Given the description of an element on the screen output the (x, y) to click on. 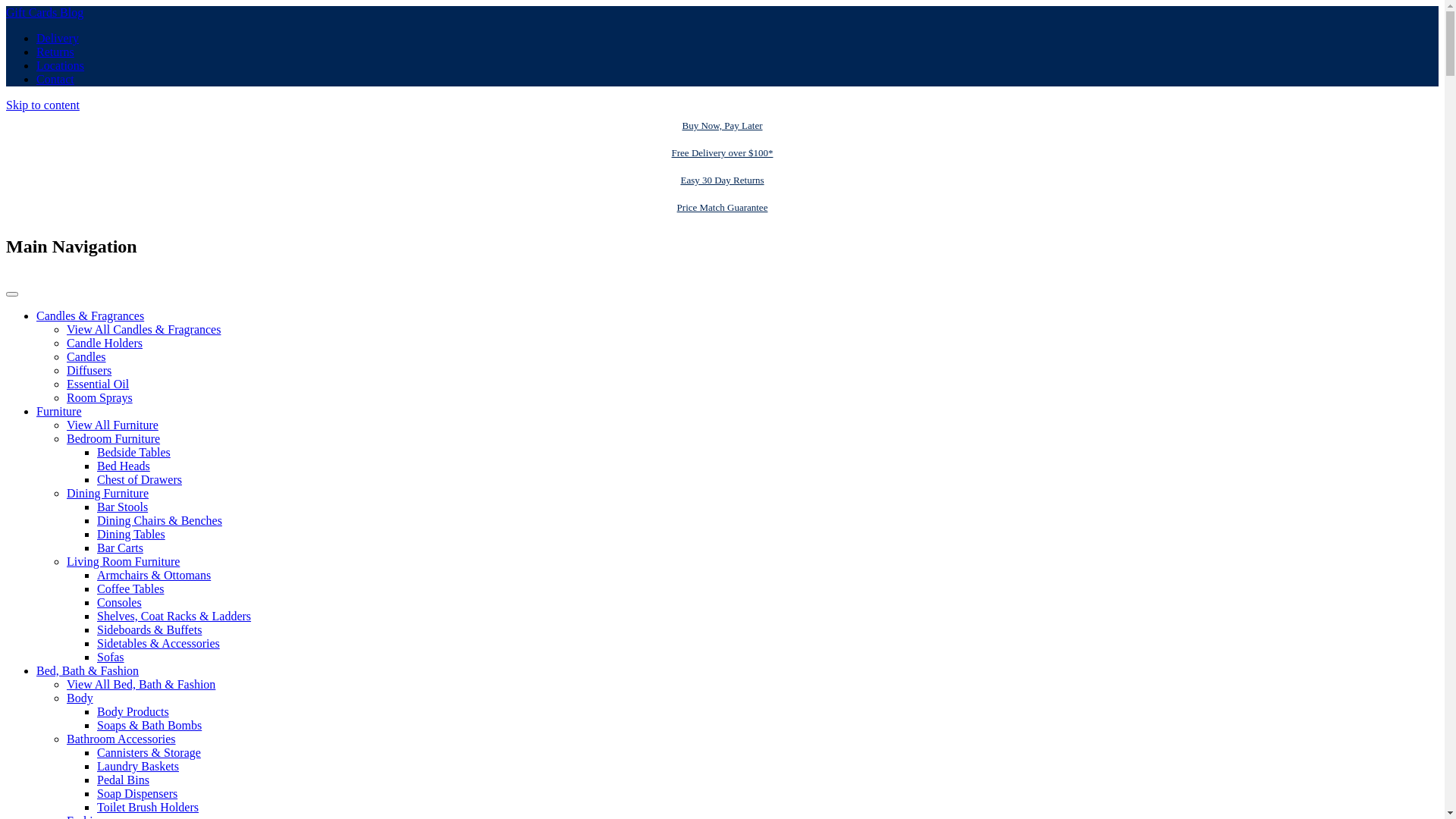
Room Sprays Element type: text (99, 397)
Pedal Bins Element type: text (123, 779)
Coffee Tables Element type: text (130, 588)
Dining Furniture Element type: text (107, 492)
Returns Element type: text (55, 51)
Body Products Element type: text (133, 711)
Bar Carts Element type: text (120, 547)
Laundry Baskets Element type: text (137, 765)
Chest of Drawers Element type: text (139, 479)
Soap Dispensers Element type: text (137, 793)
View All Candles & Fragrances Element type: text (143, 329)
Bed, Bath & Fashion Element type: text (87, 670)
Consoles Element type: text (119, 602)
Skip to content Element type: text (42, 104)
Shelves, Coat Racks & Ladders Element type: text (174, 615)
Locations Element type: text (60, 65)
Sideboards & Buffets Element type: text (149, 629)
Bar Stools Element type: text (122, 506)
Contact Element type: text (55, 78)
Furniture Element type: text (58, 410)
Bedside Tables Element type: text (133, 451)
Bathroom Accessories Element type: text (120, 738)
Cannisters & Storage Element type: text (148, 752)
Dining Tables Element type: text (131, 533)
Bedroom Furniture Element type: text (113, 438)
Sofas Element type: text (110, 656)
Body Element type: text (79, 697)
Buy Now, Pay Later Element type: text (722, 125)
View All Bed, Bath & Fashion Element type: text (140, 683)
Sidetables & Accessories Element type: text (158, 643)
Candles & Fragrances Element type: text (90, 315)
Price Match Guarantee Element type: text (722, 207)
Armchairs & Ottomans Element type: text (153, 574)
Blog Element type: text (71, 12)
View All Furniture Element type: text (112, 424)
Toilet Brush Holders Element type: text (147, 806)
Candles Element type: text (86, 356)
Dining Chairs & Benches Element type: text (159, 520)
Living Room Furniture Element type: text (122, 561)
Candle Holders Element type: text (104, 342)
Diffusers Element type: text (88, 370)
Bed Heads Element type: text (123, 465)
Soaps & Bath Bombs Element type: text (149, 724)
Free Delivery over $100* Element type: text (722, 152)
Delivery Element type: text (57, 37)
Essential Oil Element type: text (97, 383)
Easy 30 Day Returns Element type: text (722, 180)
Gift Cards Element type: text (32, 12)
